Given the description of an element on the screen output the (x, y) to click on. 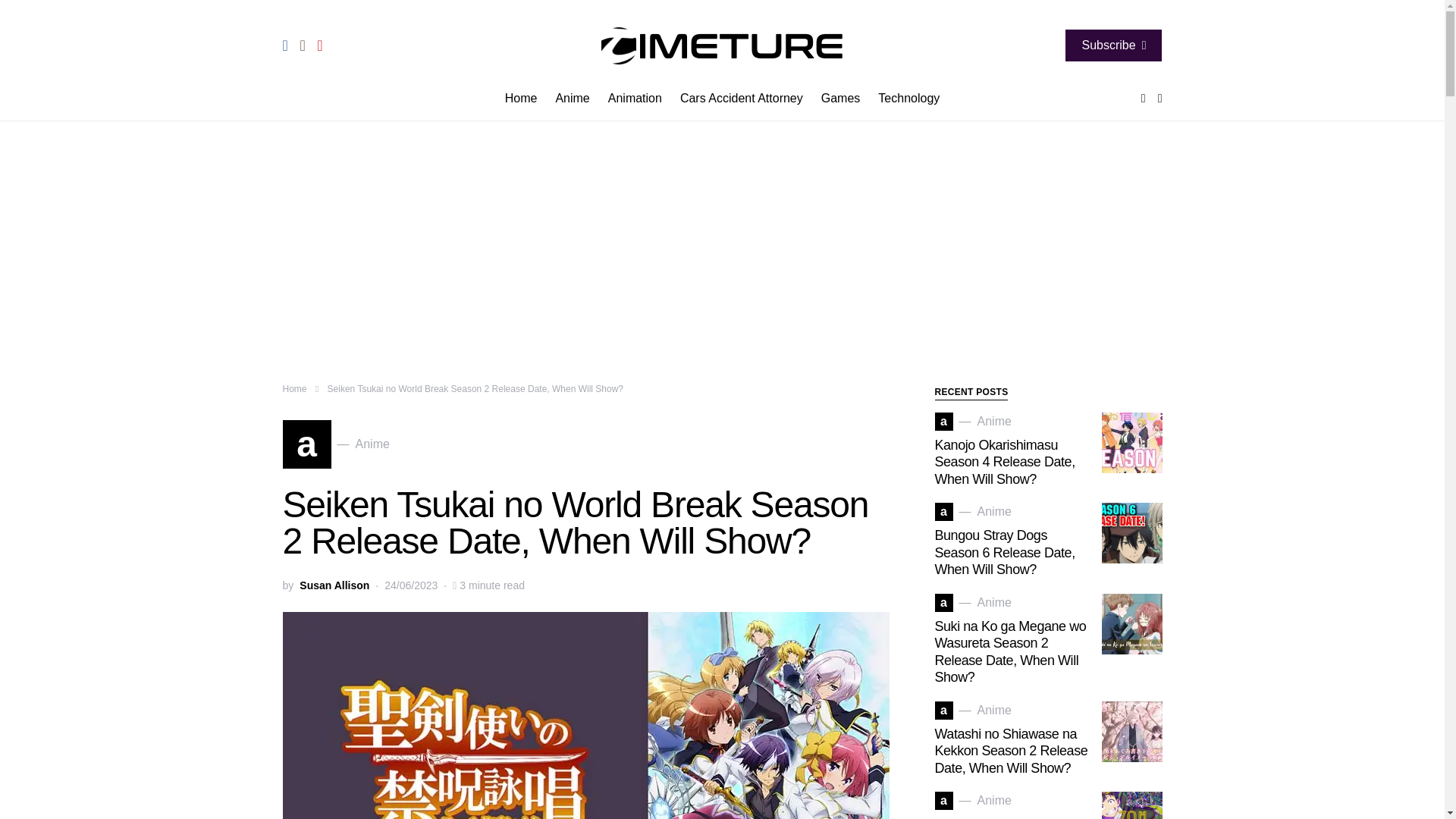
Home (526, 98)
Subscribe (335, 444)
Games (1113, 45)
Home (840, 98)
Cars Accident Attorney (293, 388)
Advertisement (741, 98)
View all posts by Susan Allison (634, 98)
Technology (334, 585)
Susan Allison (904, 98)
Anime (334, 585)
